Given the description of an element on the screen output the (x, y) to click on. 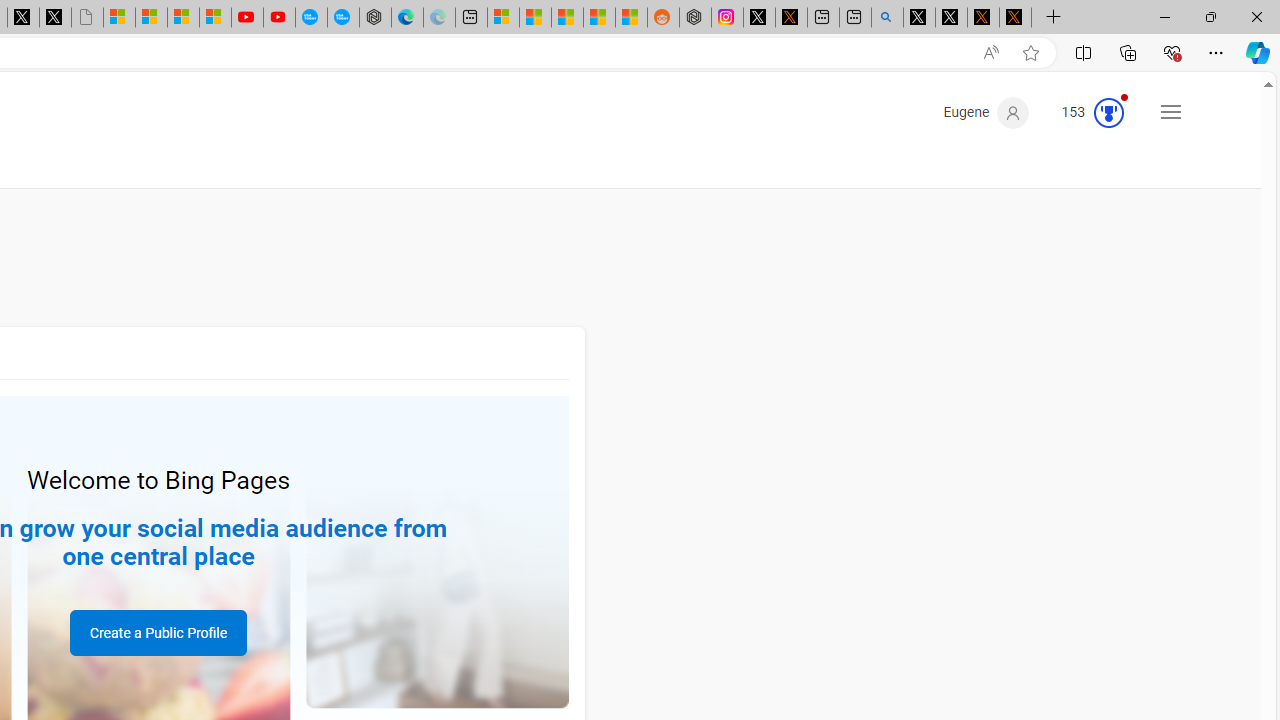
Nordace - Nordace has arrived Hong Kong (374, 17)
Shanghai, China hourly forecast | Microsoft Weather (566, 17)
YouTube Kids - An App Created for Kids to Explore Content (279, 17)
Log in to X / X (758, 17)
Profile / X (919, 17)
Settings and quick links (1170, 111)
Gloom - YouTube (246, 17)
X Privacy Policy (1014, 17)
